Given the description of an element on the screen output the (x, y) to click on. 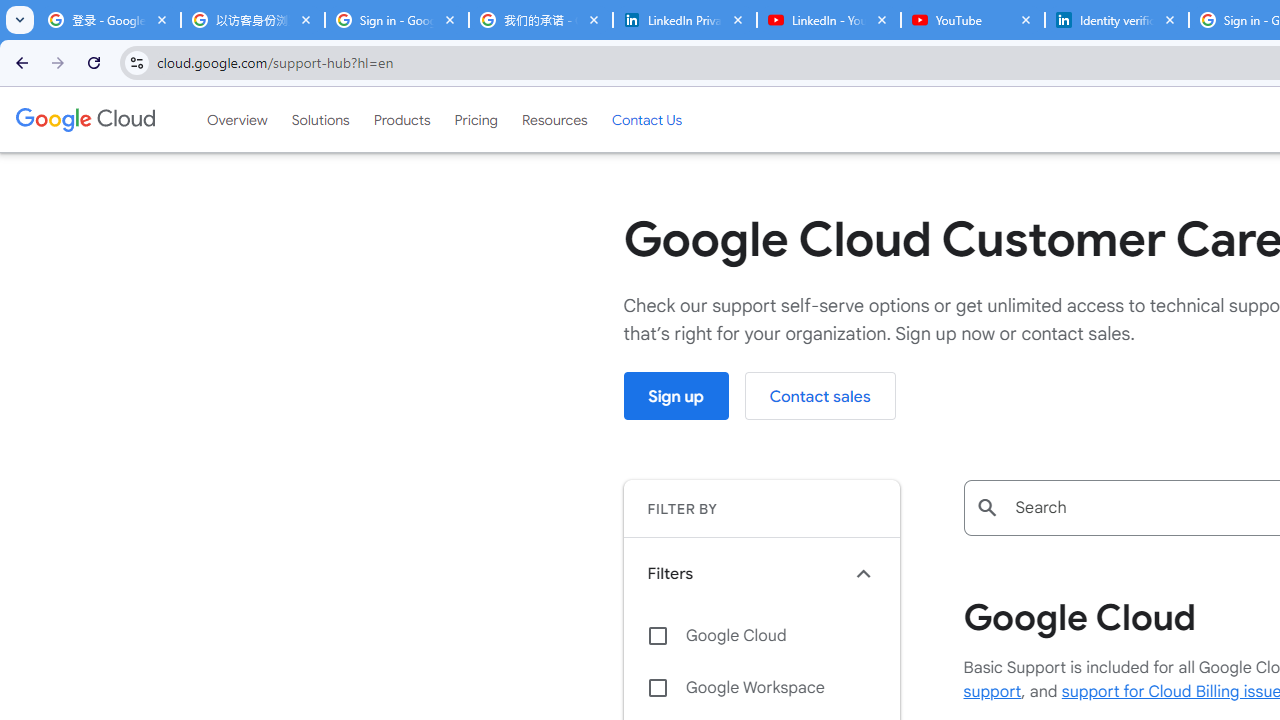
LinkedIn - YouTube (828, 20)
Pricing (476, 119)
Search tabs (20, 20)
Google Workspace (761, 687)
Filters keyboard_arrow_up (761, 573)
Sign up (676, 395)
Google Cloud (84, 119)
System (10, 11)
Close (1169, 19)
Contact sales (819, 395)
Resources (553, 119)
Contact Us (646, 119)
Reload (93, 62)
